Given the description of an element on the screen output the (x, y) to click on. 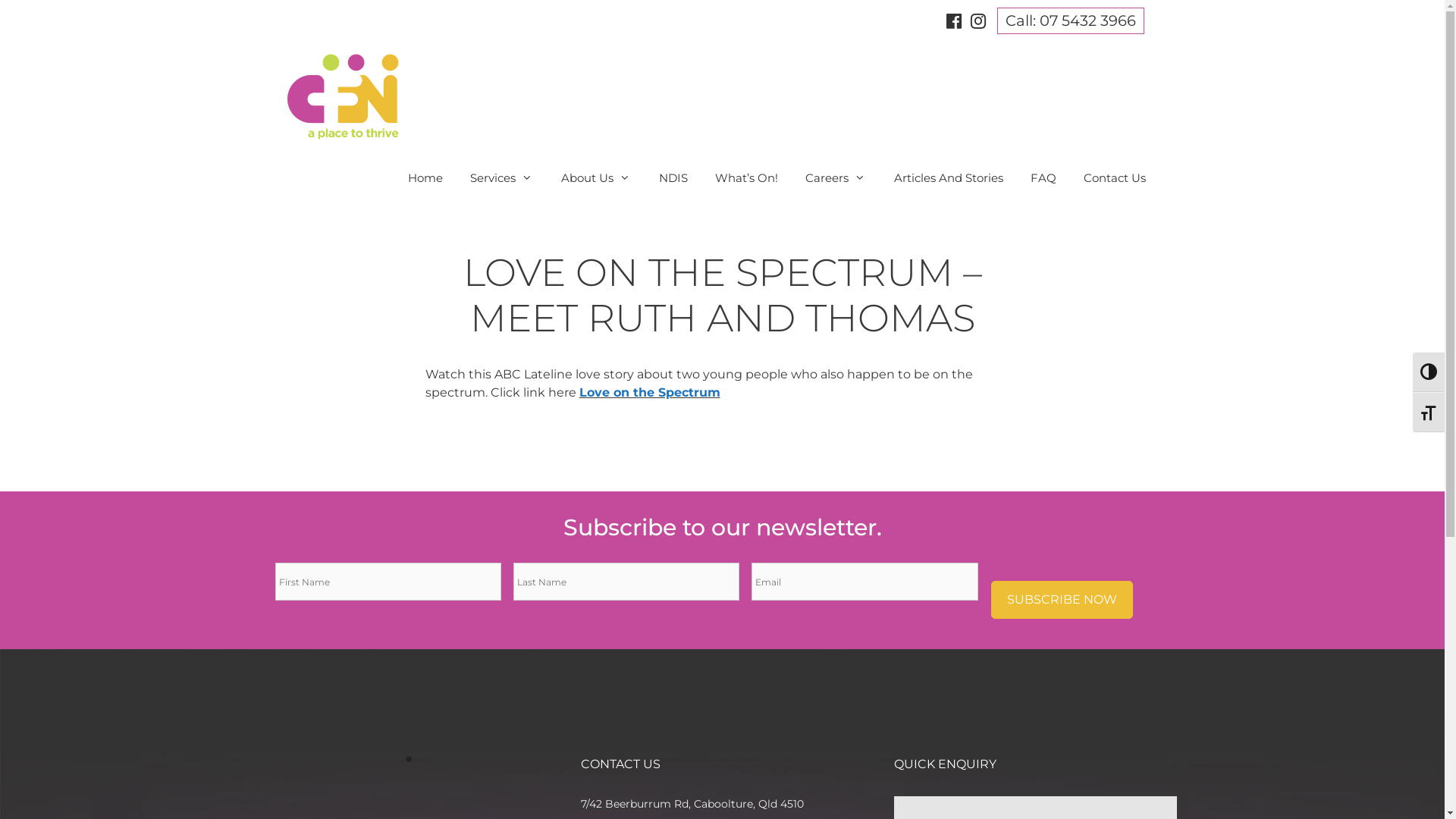
SUBSCRIBE NOW Element type: text (1061, 599)
Call: 07 5432 3966 Element type: text (1069, 20)
NDIS Element type: text (672, 177)
Contact Us Element type: text (1113, 177)
Love on the Spectrum Element type: text (649, 392)
Home Element type: text (425, 177)
Services Element type: text (501, 177)
Toggle Font size Element type: text (1428, 412)
FAQ Element type: text (1042, 177)
Careers Element type: text (835, 177)
Articles And Stories Element type: text (947, 177)
Toggle High Contrast Element type: text (1428, 371)
About Us Element type: text (596, 177)
